Given the description of an element on the screen output the (x, y) to click on. 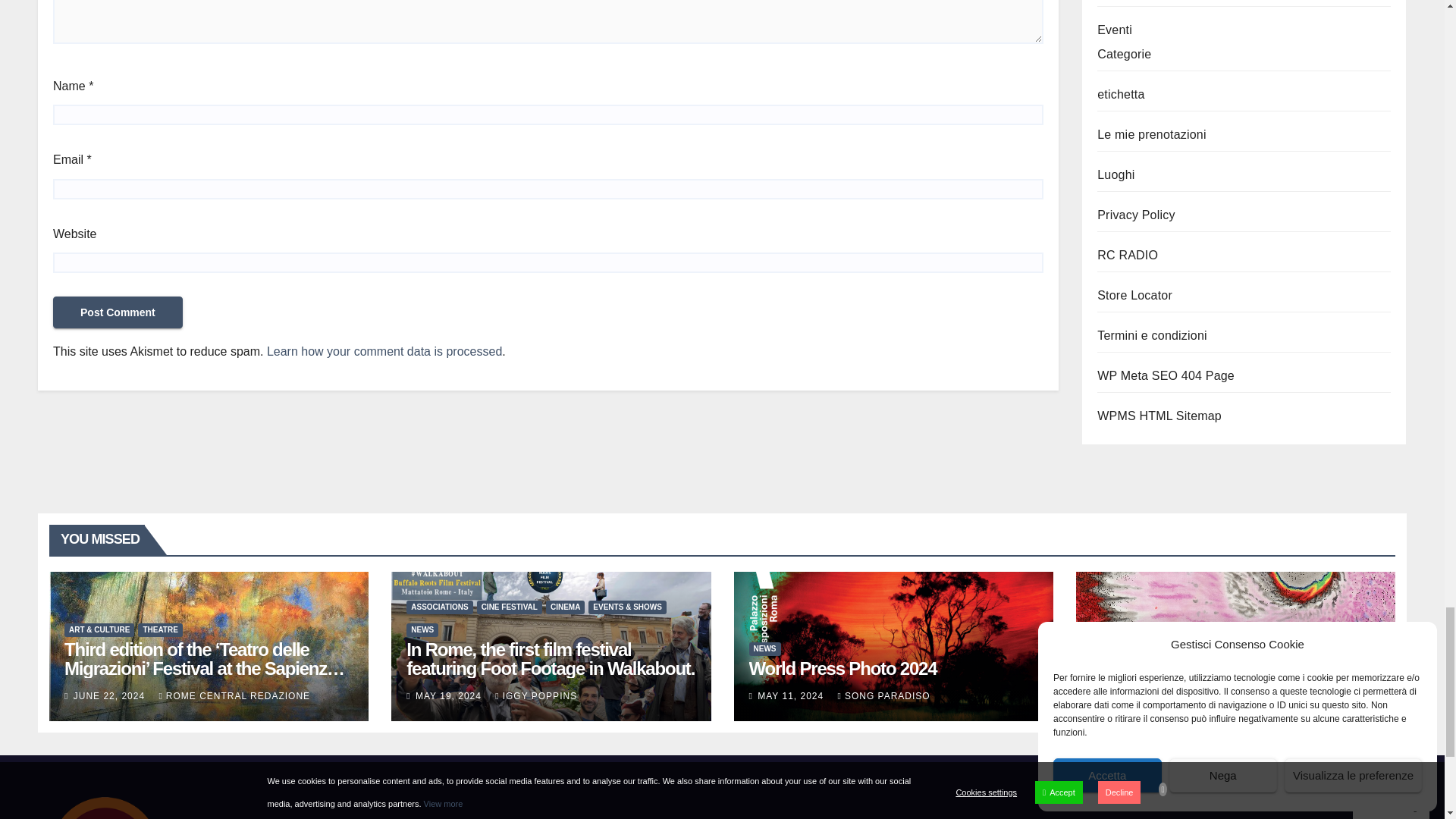
Post Comment (117, 312)
